Given the description of an element on the screen output the (x, y) to click on. 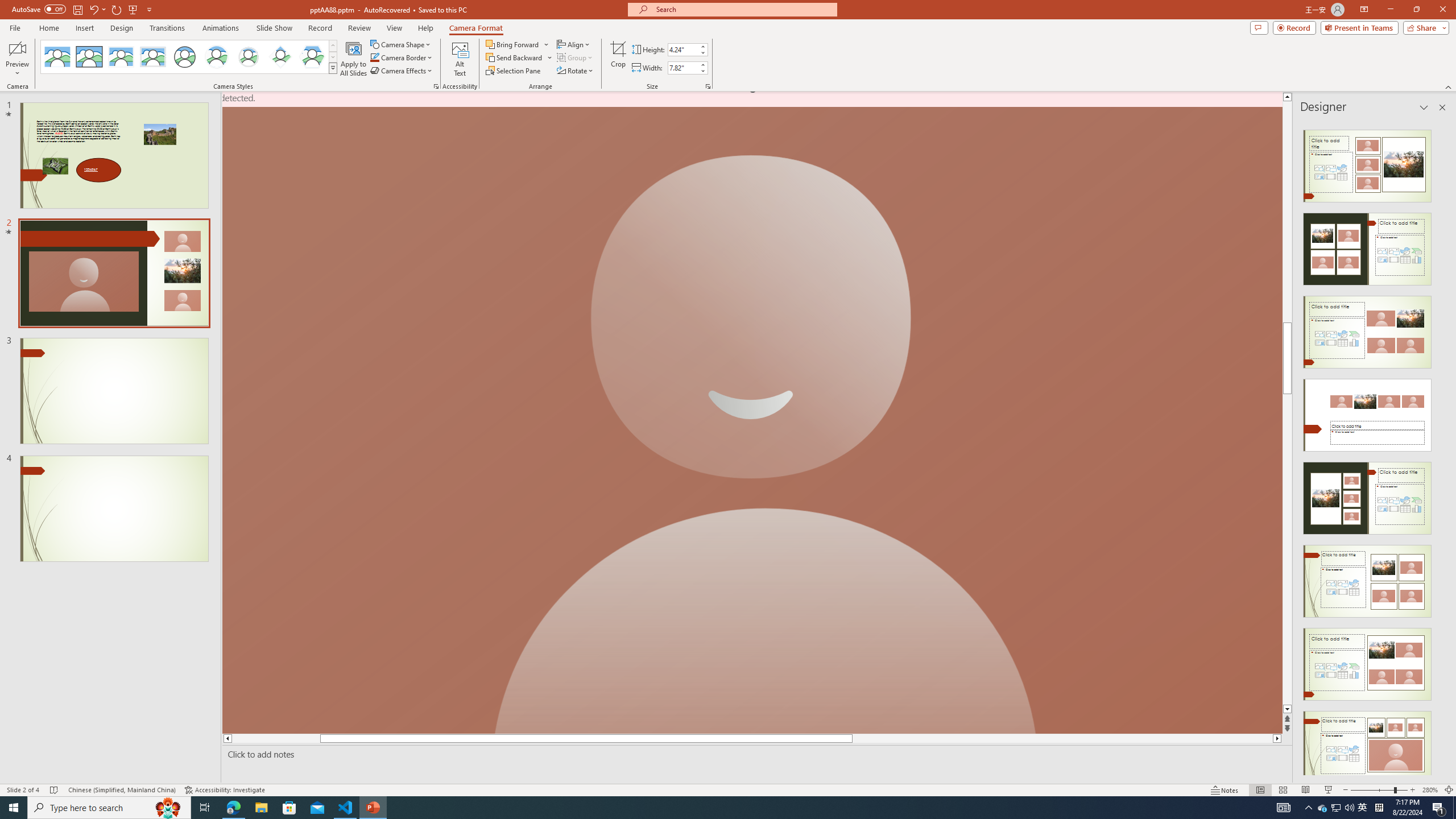
Enable Camera Preview (17, 48)
Send Backward (514, 56)
Camera Shape (400, 44)
Cameo Height (682, 49)
Apply to All Slides (353, 58)
